Given the description of an element on the screen output the (x, y) to click on. 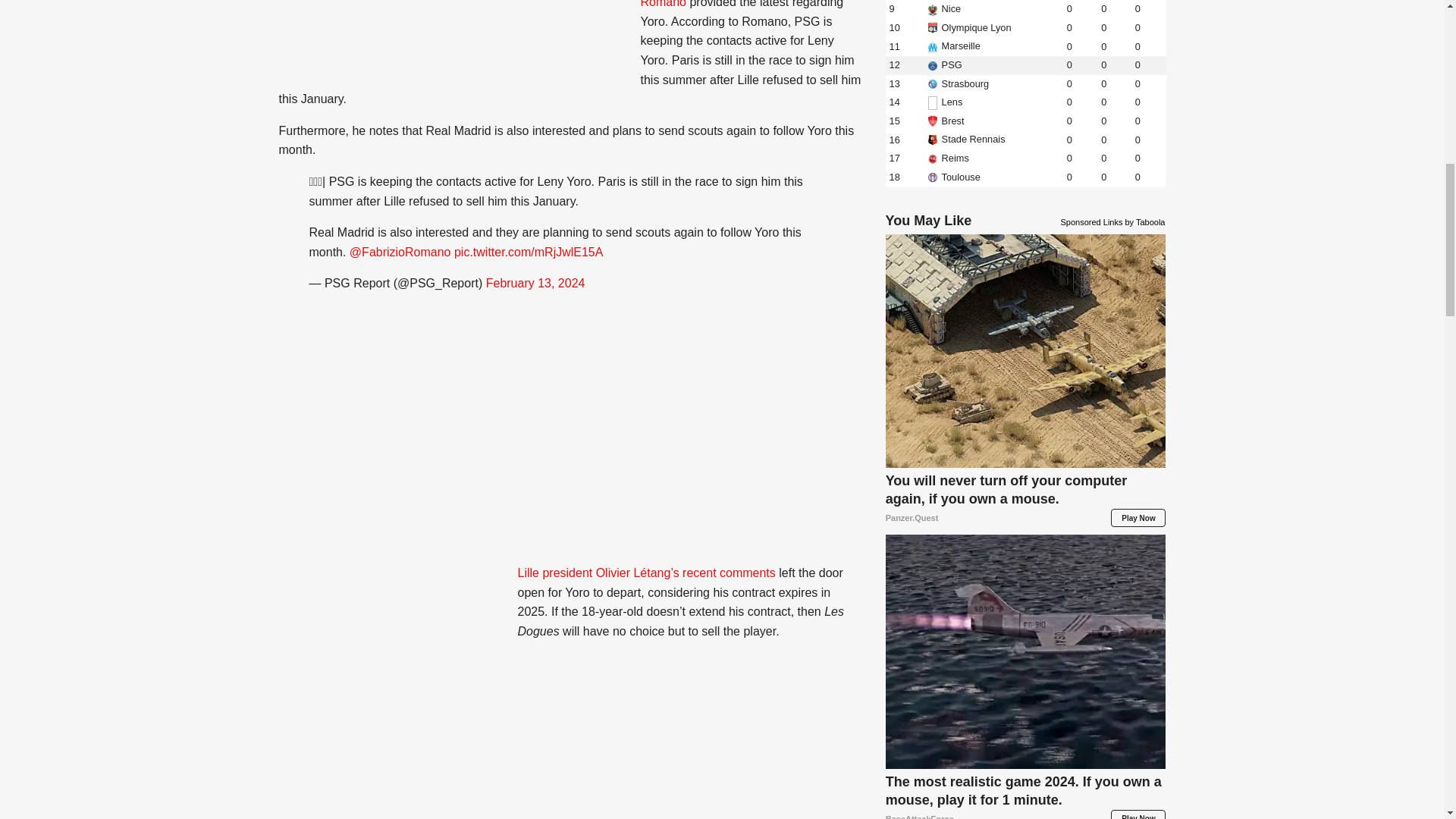
February 13, 2024 (535, 282)
Fabrizio Romano (734, 4)
